Given the description of an element on the screen output the (x, y) to click on. 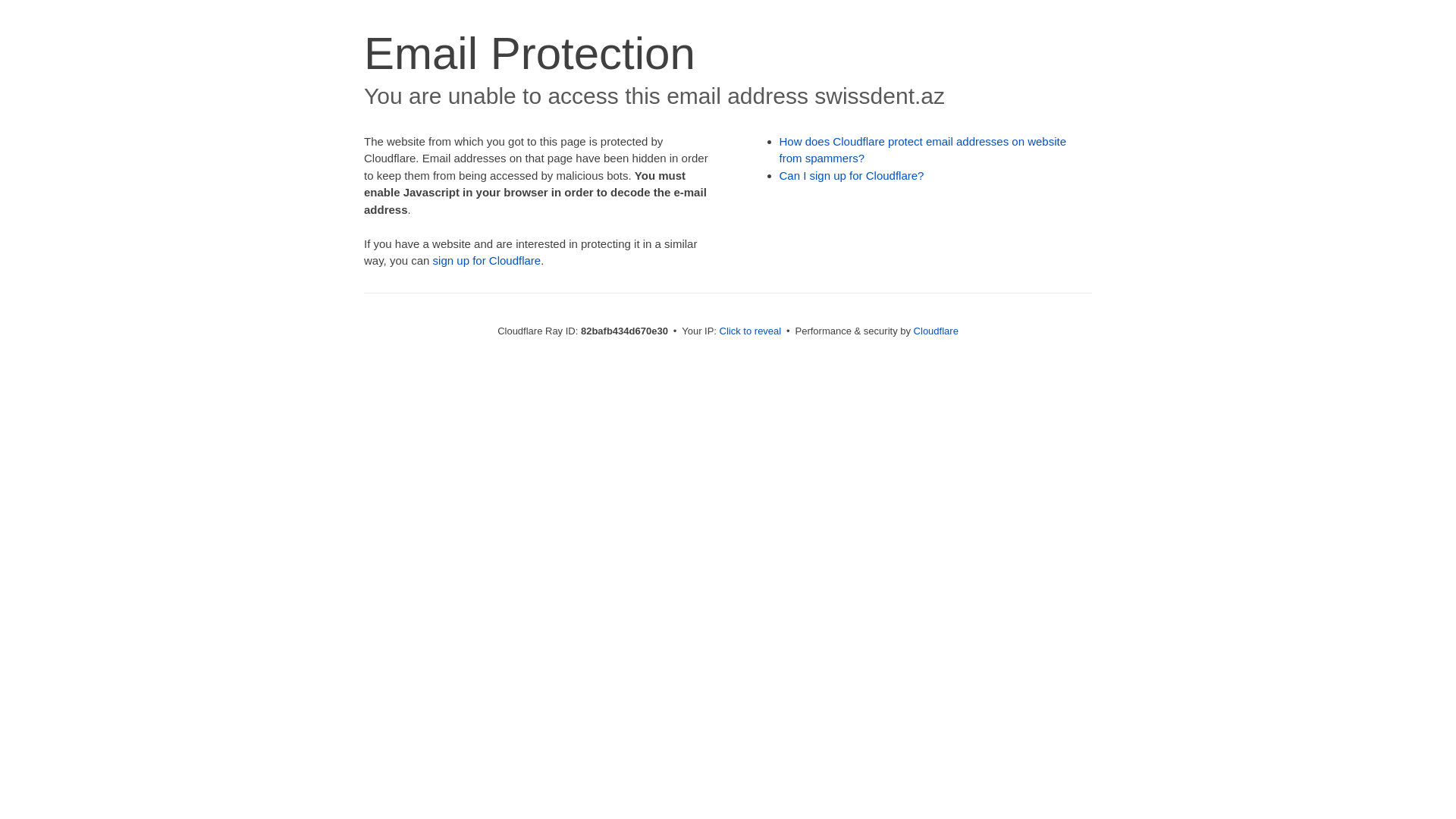
Cloudflare Element type: text (935, 330)
Click to reveal Element type: text (750, 330)
Can I sign up for Cloudflare? Element type: text (851, 175)
sign up for Cloudflare Element type: text (487, 260)
